Given the description of an element on the screen output the (x, y) to click on. 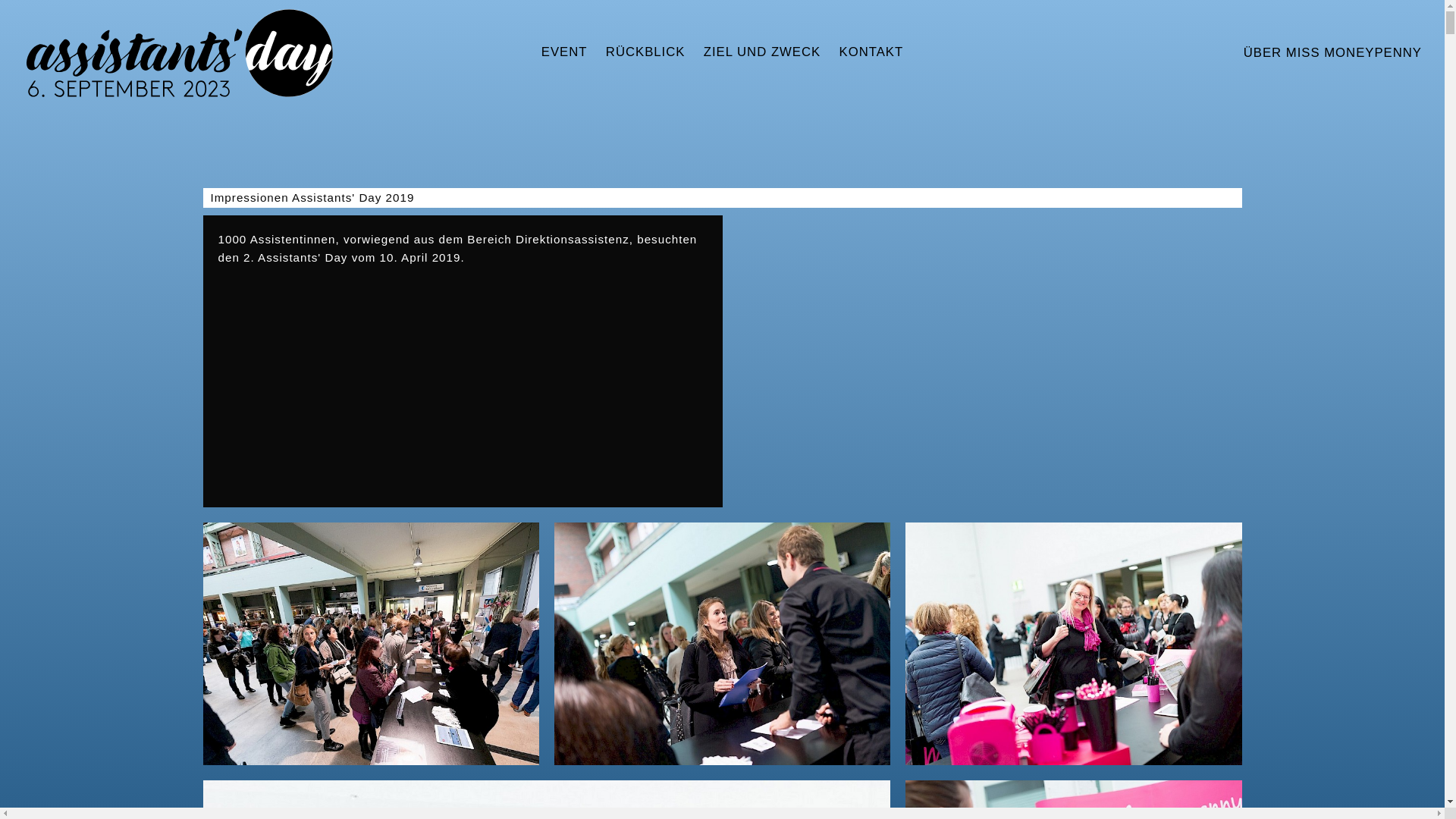
ZIEL UND ZWECK Element type: text (762, 52)
EVENT Element type: text (564, 52)
KONTAKT Element type: text (870, 52)
